Given the description of an element on the screen output the (x, y) to click on. 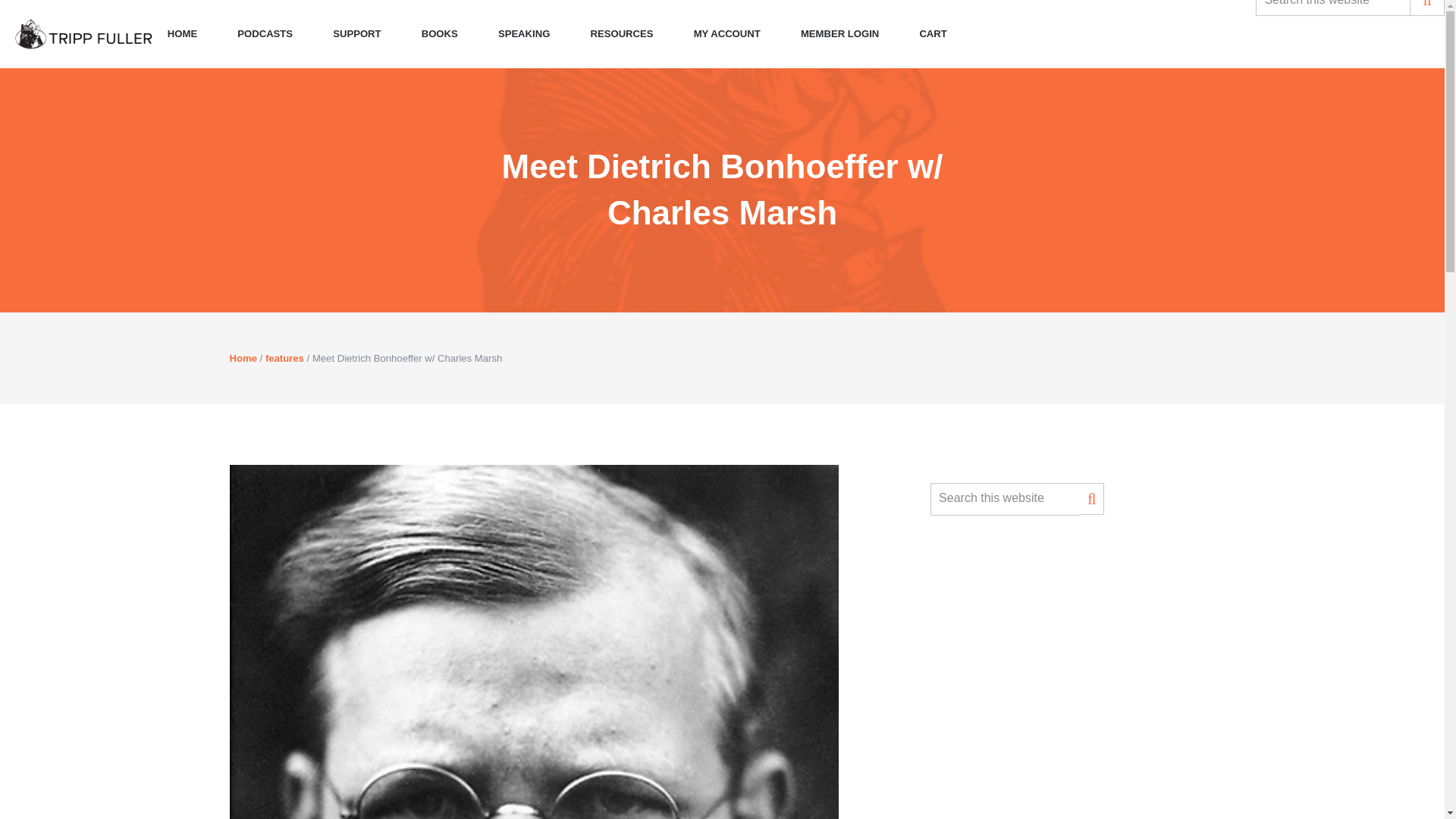
Home (242, 357)
BOOKS (439, 33)
CART (925, 33)
PODCASTS (264, 33)
features (284, 357)
SPEAKING (523, 33)
MEMBER LOGIN (839, 33)
HOME (182, 33)
RESOURCES (621, 33)
